Given the description of an element on the screen output the (x, y) to click on. 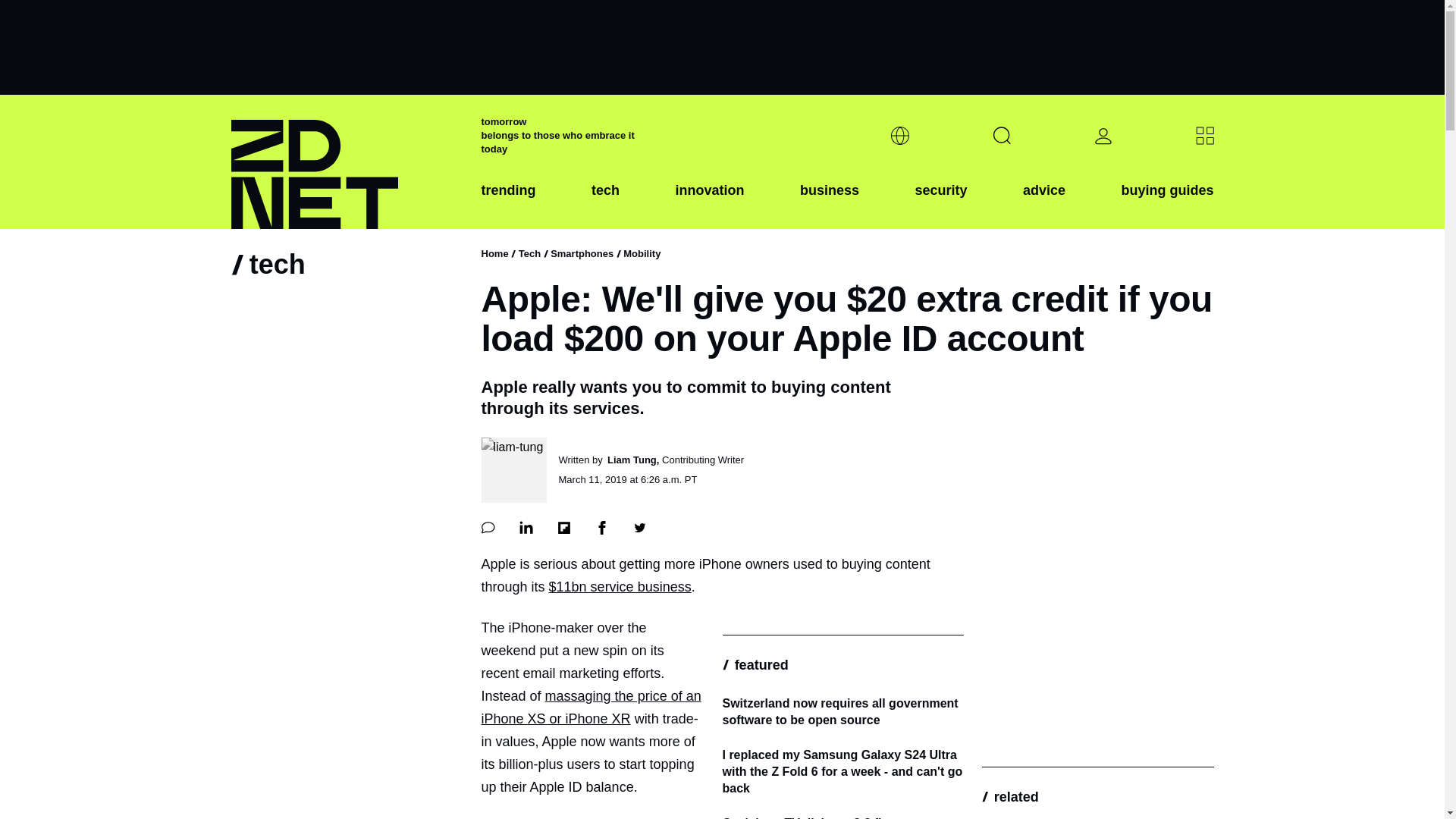
trending (507, 202)
ZDNET (346, 162)
tech (605, 202)
